Given the description of an element on the screen output the (x, y) to click on. 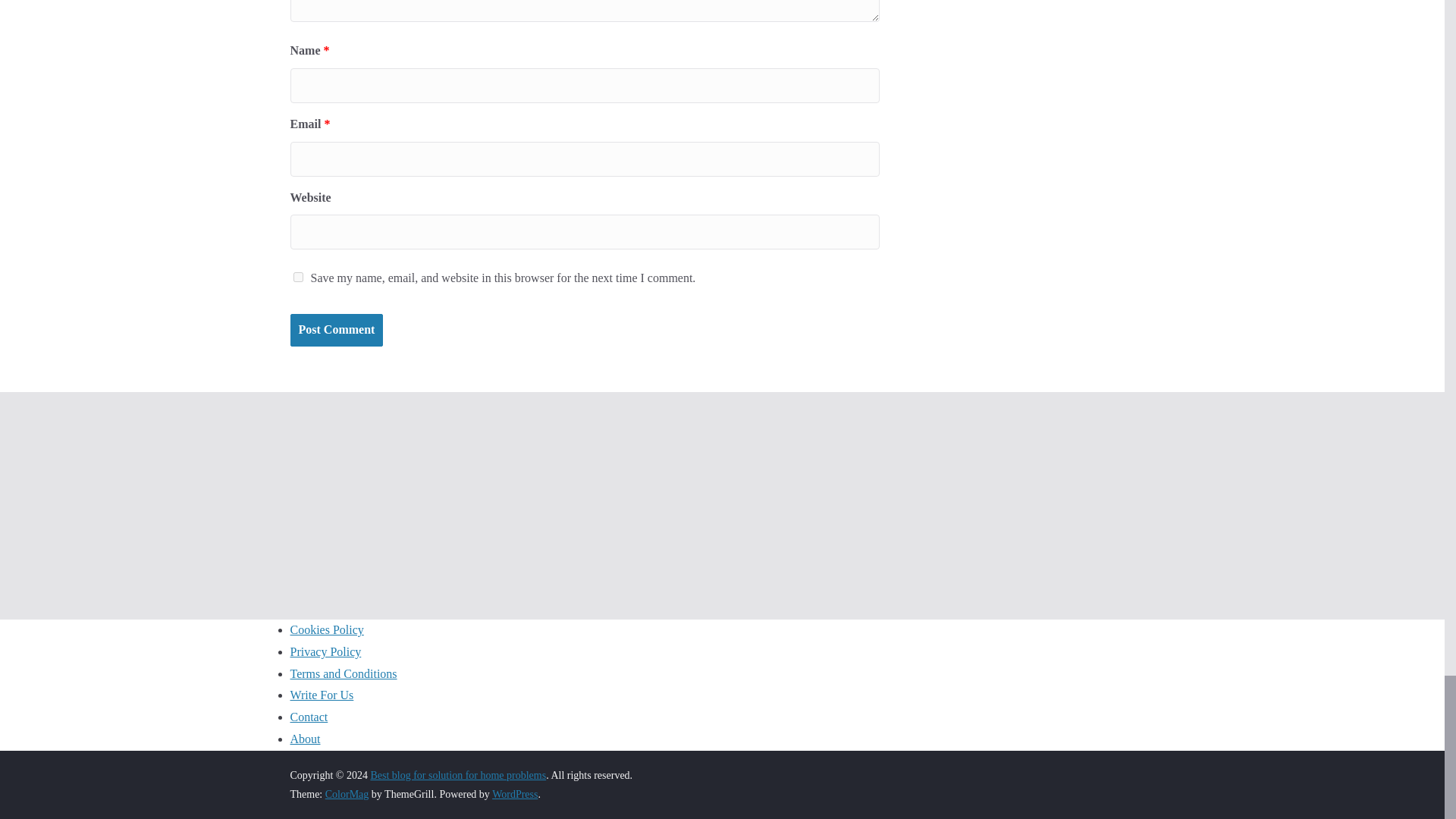
yes (297, 276)
Post Comment (335, 329)
